Given the description of an element on the screen output the (x, y) to click on. 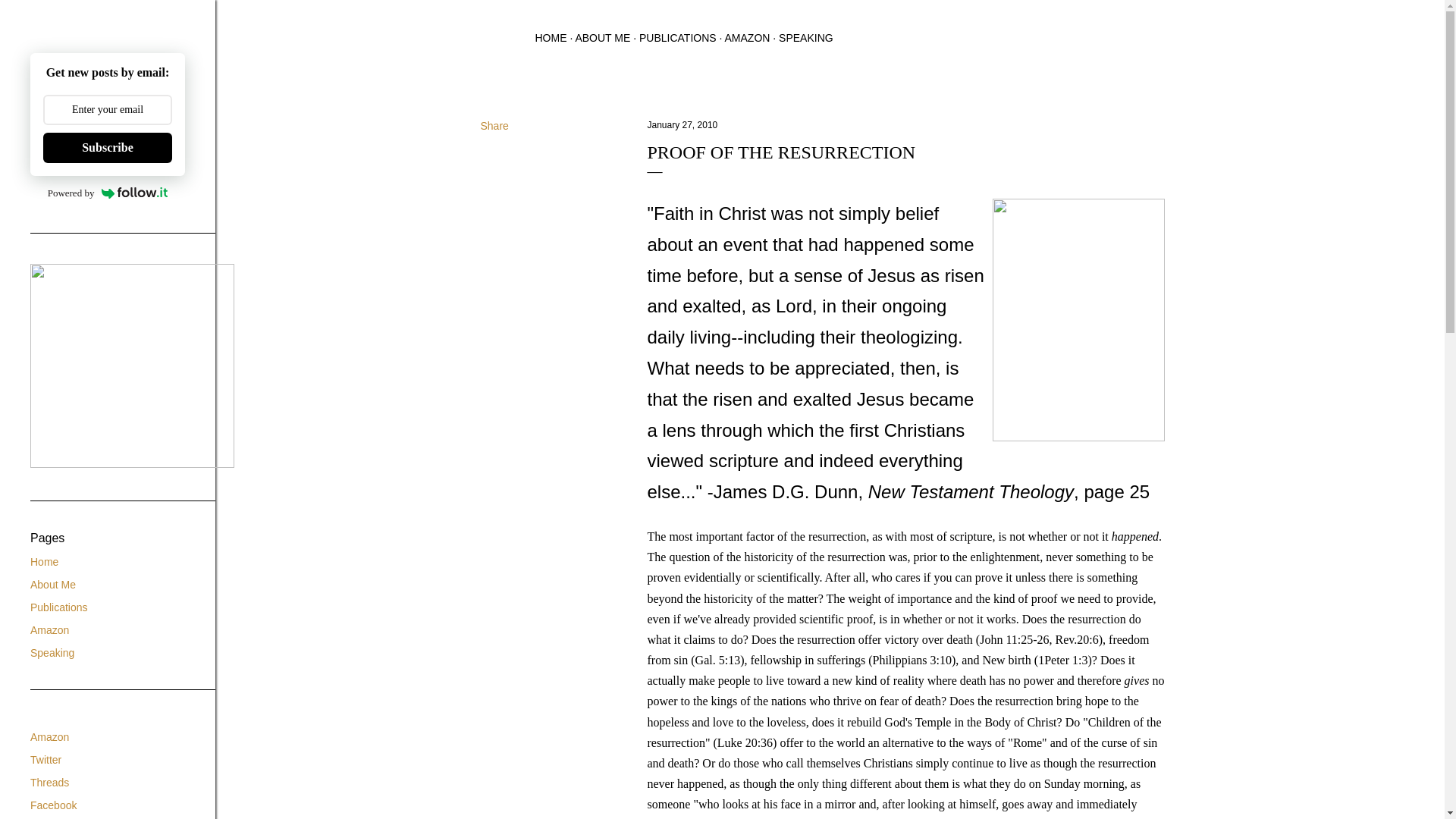
HOME (551, 37)
PUBLICATIONS (677, 37)
SPEAKING (805, 37)
Powered by (107, 192)
Amazon (49, 736)
Amazon (49, 630)
Twitter (45, 759)
permanent link (682, 124)
Home (44, 562)
Speaking (52, 653)
